Given the description of an element on the screen output the (x, y) to click on. 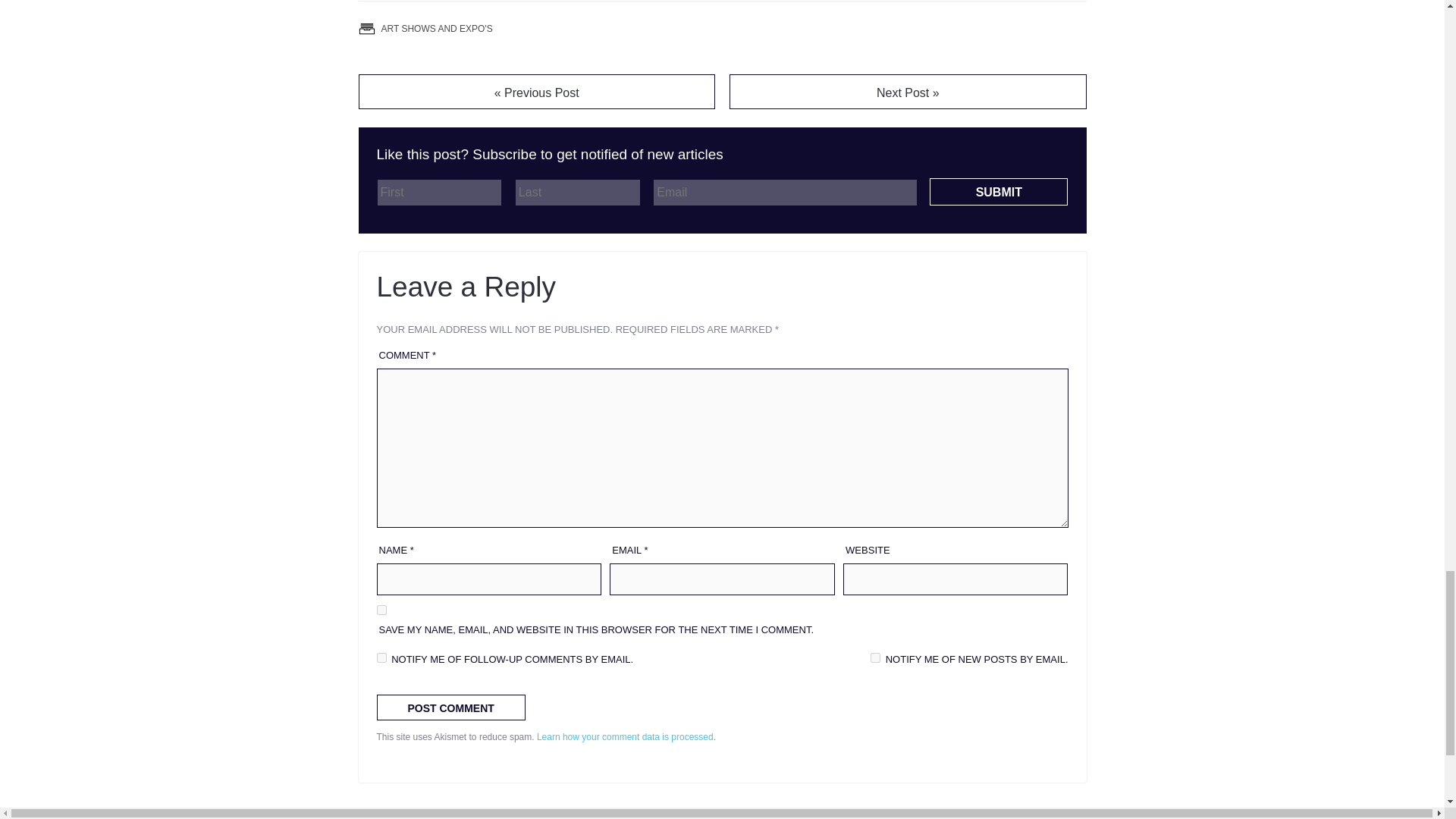
Post Comment (449, 707)
Post Comment (449, 707)
subscribe (875, 657)
subscribe (380, 657)
Submit (998, 191)
yes (380, 610)
ART SHOWS AND EXPO'S (436, 28)
Submit (998, 191)
Learn how your comment data is processed (625, 736)
